Given the description of an element on the screen output the (x, y) to click on. 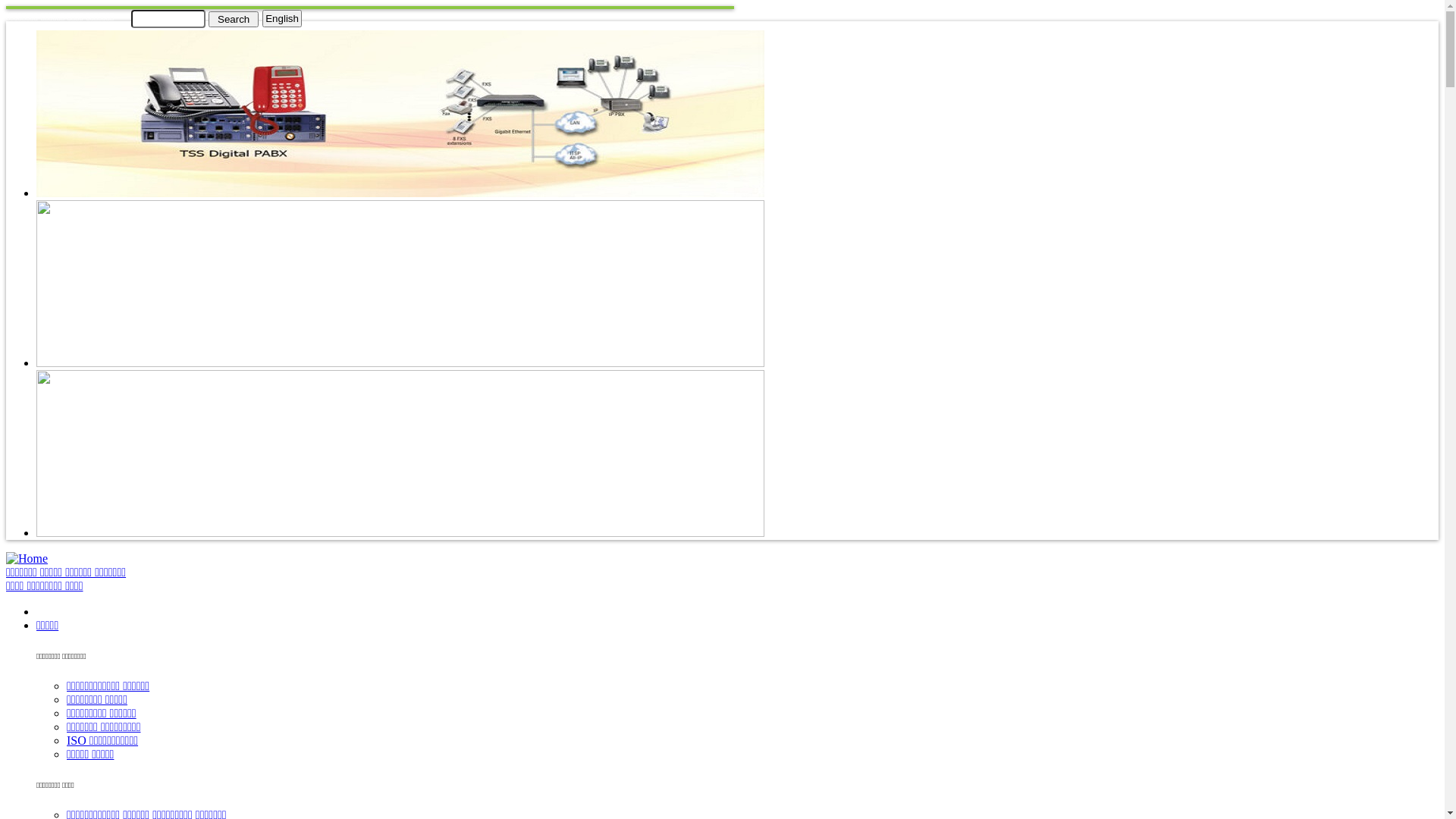
English Element type: text (281, 18)
Search Element type: text (233, 18)
Home Element type: hover (26, 558)
